Given the description of an element on the screen output the (x, y) to click on. 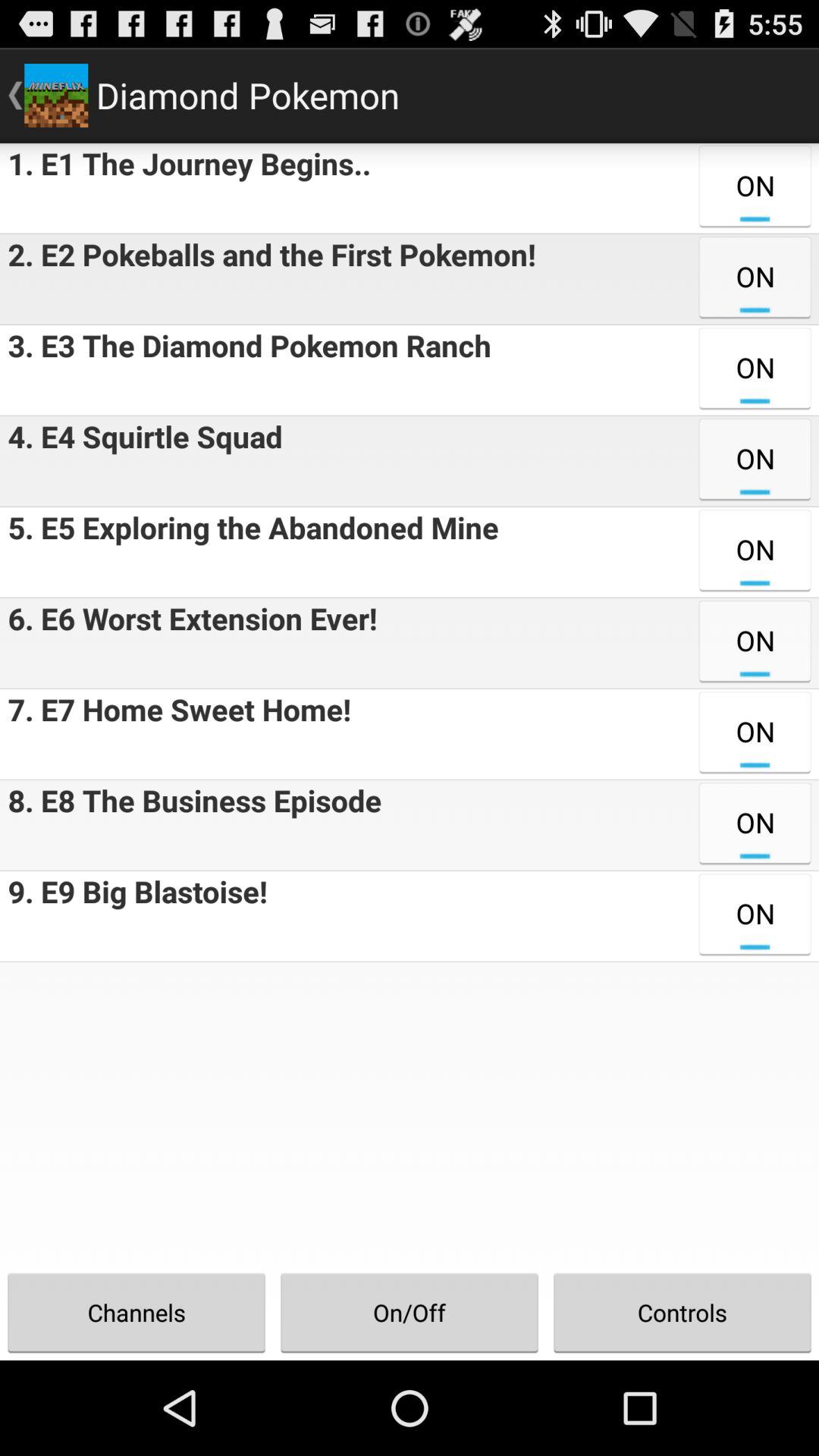
launch icon to the left of on icon (190, 825)
